Given the description of an element on the screen output the (x, y) to click on. 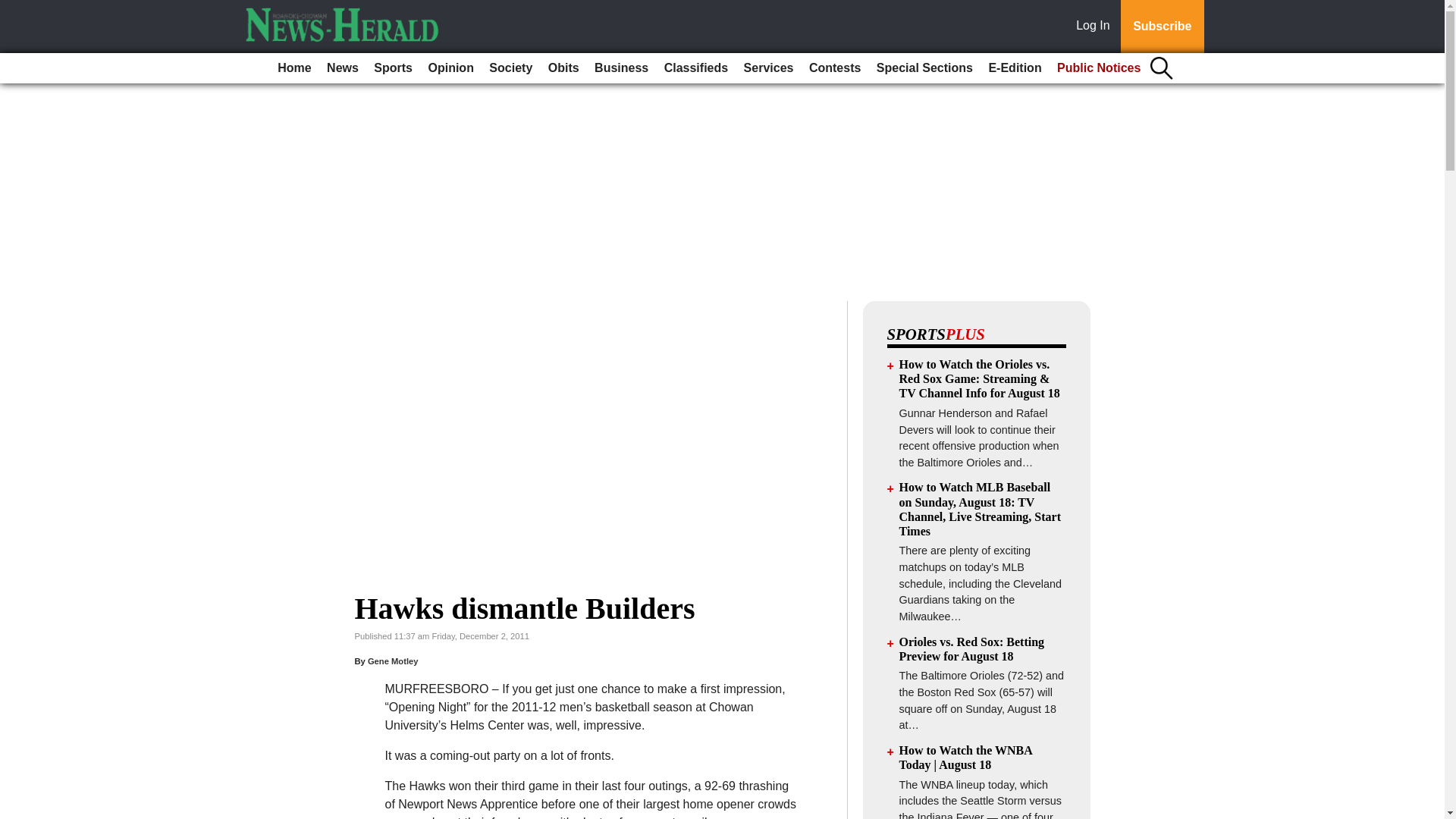
Classifieds (695, 68)
Subscribe (1162, 26)
Go (13, 9)
Special Sections (924, 68)
Opinion (450, 68)
E-Edition (1013, 68)
Log In (1095, 26)
Public Notices (1099, 68)
Business (620, 68)
Obits (563, 68)
